Given the description of an element on the screen output the (x, y) to click on. 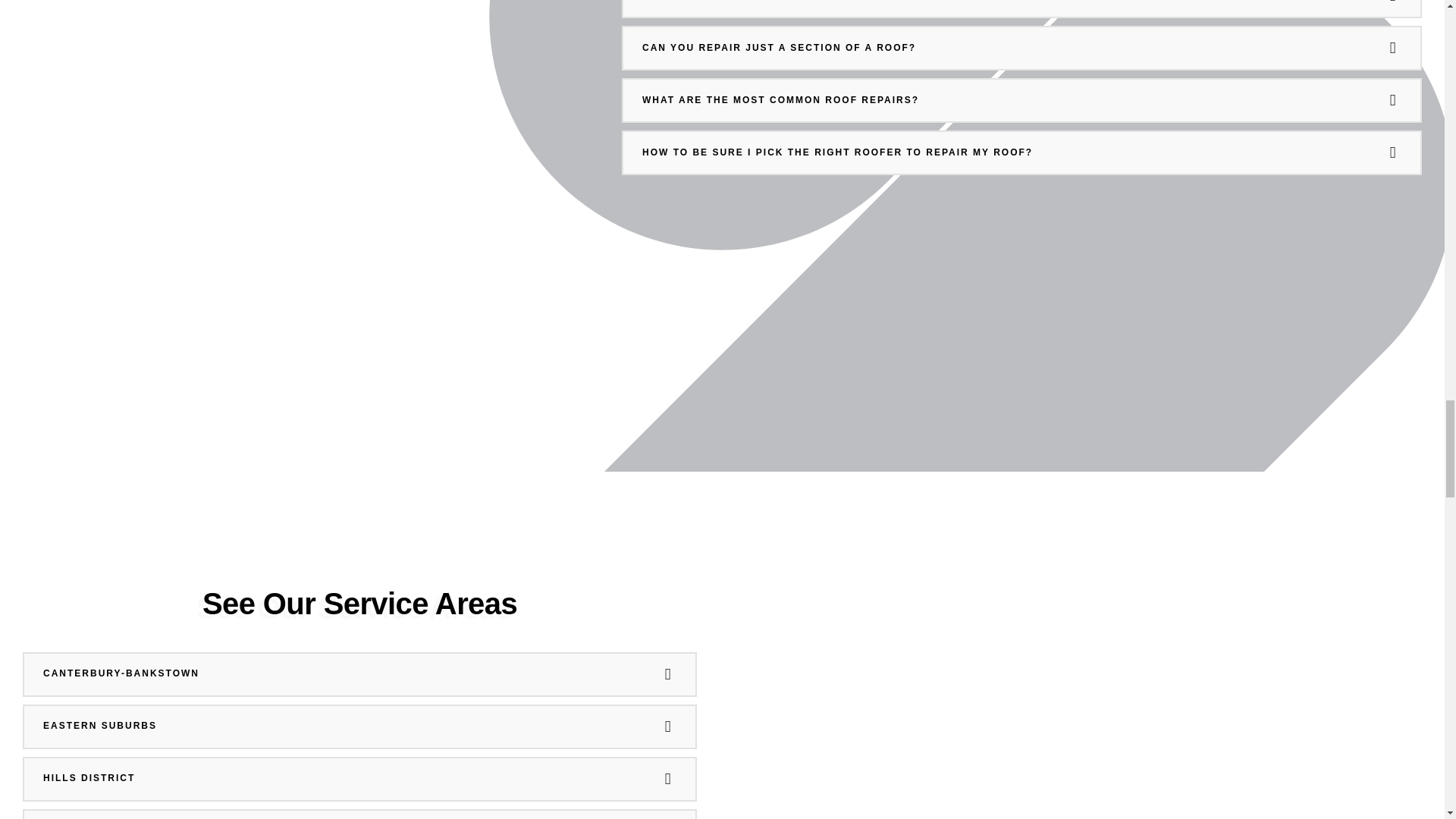
HOW LONG DOES IT TAKE TO REPAIR A ROOF? (1022, 8)
CAN YOU REPAIR JUST A SECTION OF A ROOF? (1022, 47)
WHAT ARE THE MOST COMMON ROOF REPAIRS? (1022, 100)
HOW TO BE SURE I PICK THE RIGHT ROOFER TO REPAIR MY ROOF? (1022, 152)
CANTERBURY-BANKSTOWN (359, 674)
